Given the description of an element on the screen output the (x, y) to click on. 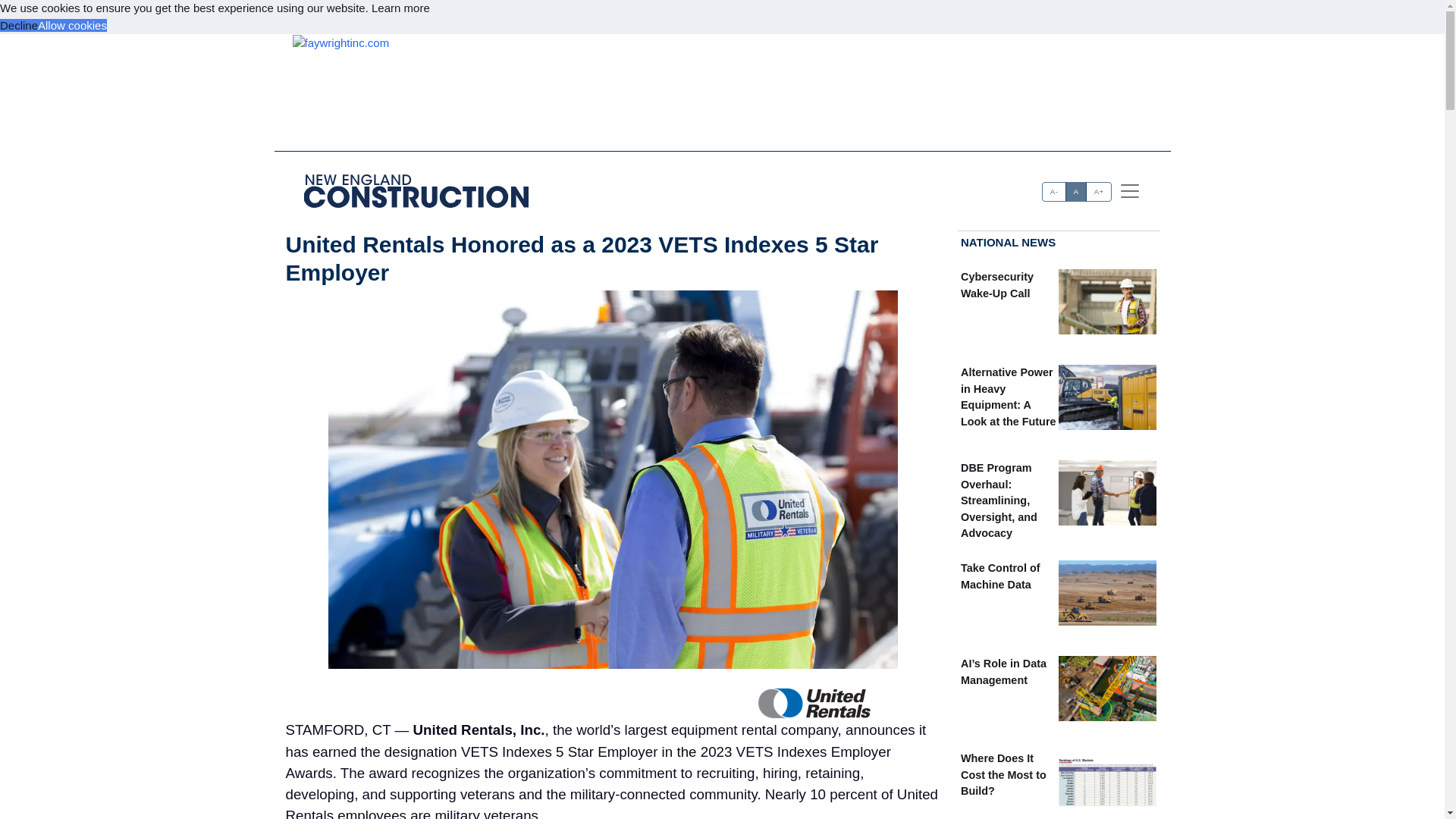
DBE Program Overhaul: Streamlining, Oversight, and Advocacy (998, 499)
on (1047, 186)
on (1047, 186)
NATIONAL NEWS (1007, 241)
Decline (18, 24)
Learn more (400, 7)
Cybersecurity Wake-Up Call (996, 285)
Take Control of Machine Data (999, 575)
on (1047, 186)
Allow cookies (71, 24)
